Given the description of an element on the screen output the (x, y) to click on. 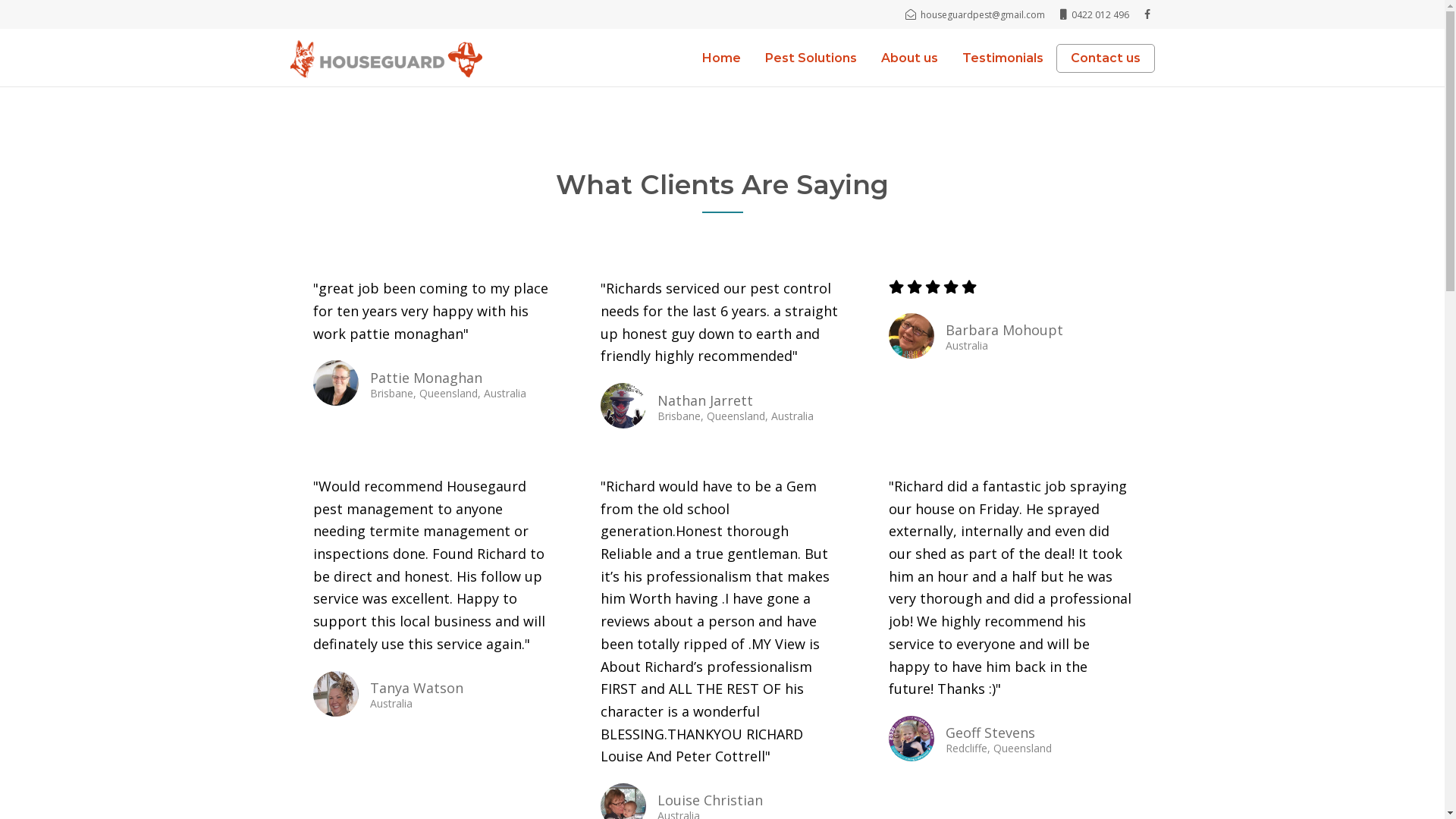
Testimonials Element type: text (1001, 58)
Contact us Element type: text (1105, 57)
Pest Solutions Element type: text (810, 58)
0422 012 496 Element type: text (1094, 14)
About us Element type: text (909, 58)
Home Element type: text (721, 58)
houseguardpest@gmail.com Element type: text (974, 14)
